Given the description of an element on the screen output the (x, y) to click on. 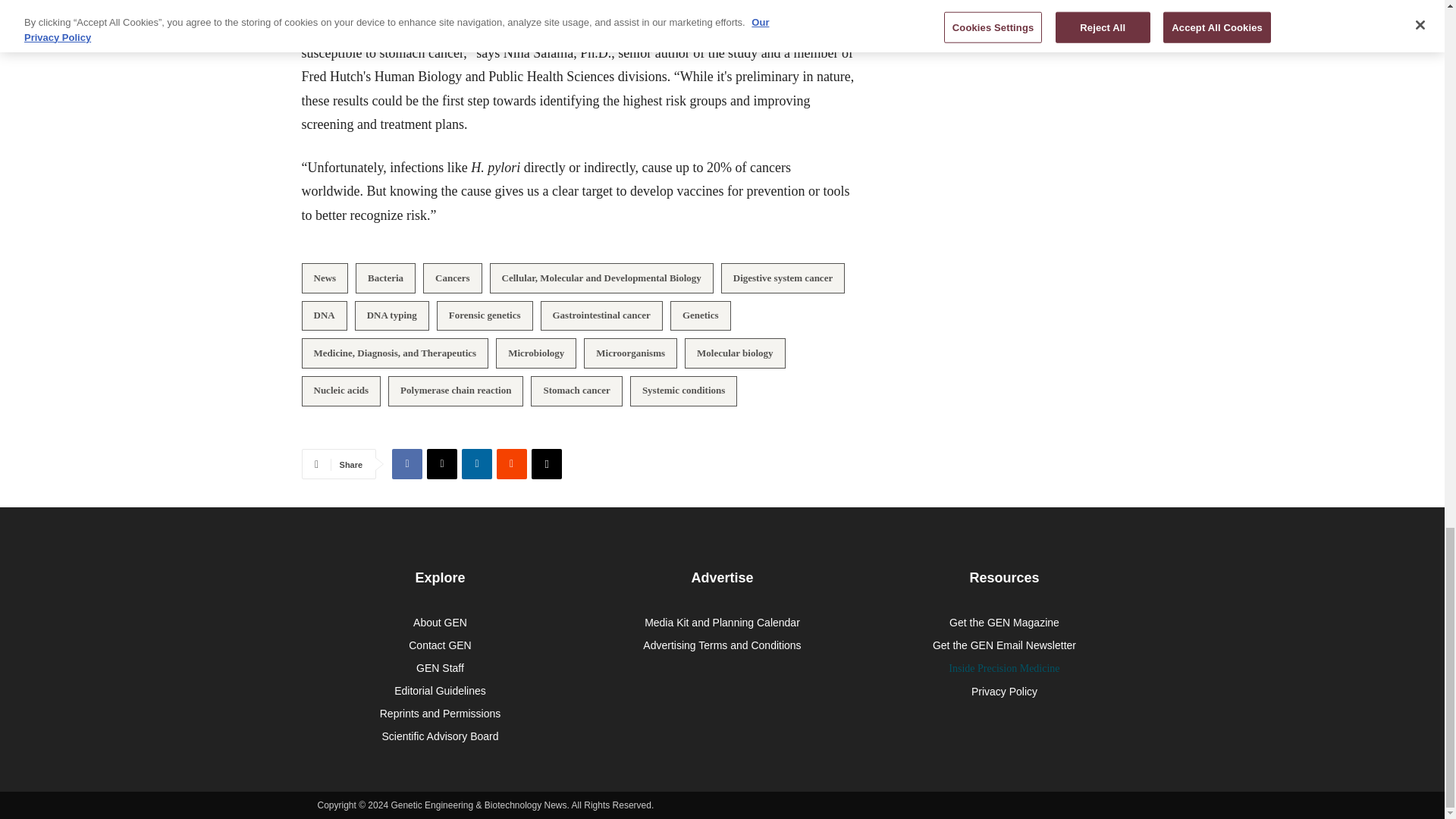
Facebook (406, 463)
